Given the description of an element on the screen output the (x, y) to click on. 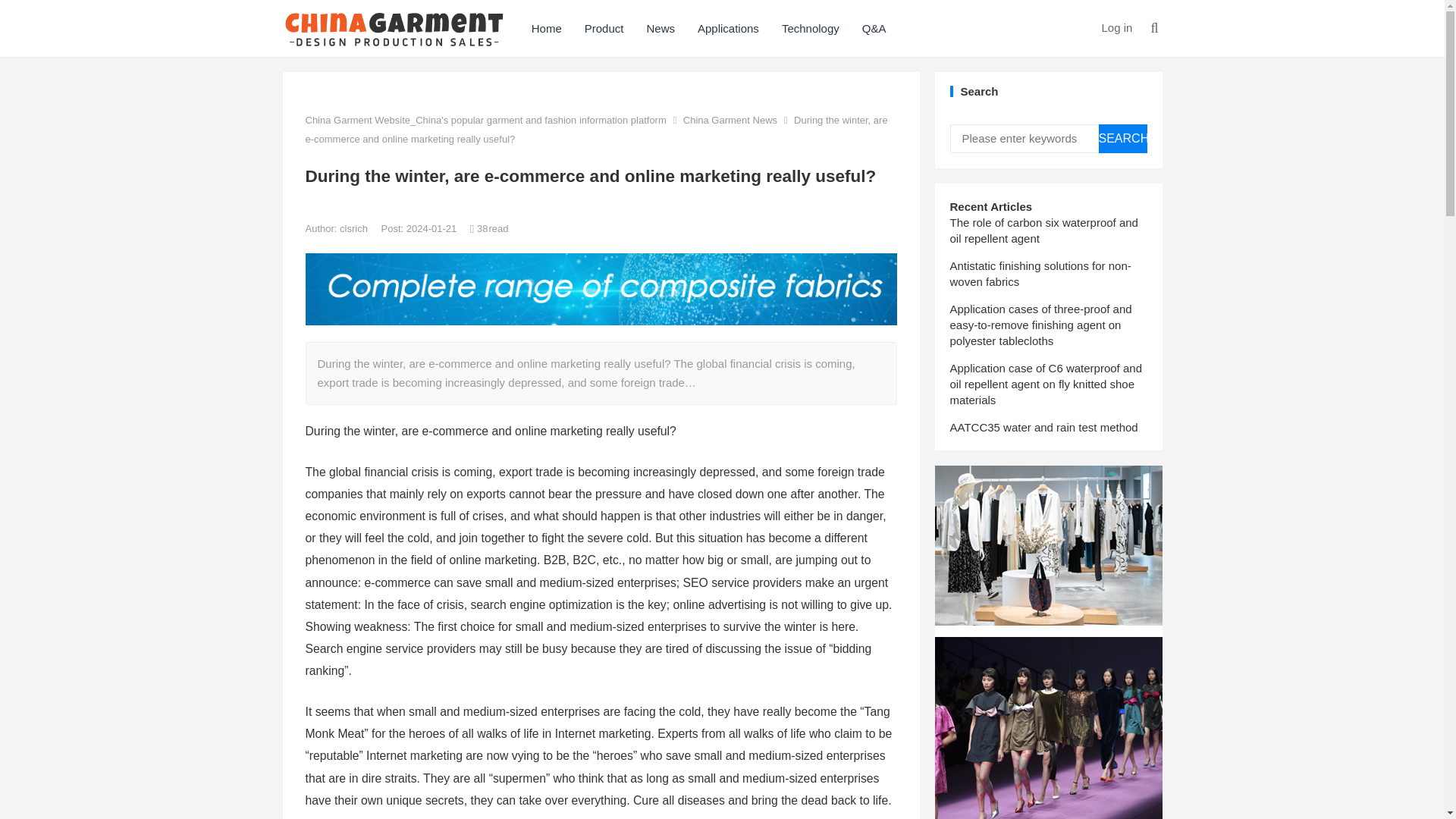
clsrich (354, 228)
News (659, 28)
Applications (727, 28)
Log in (1116, 27)
Log in (1116, 27)
Product (603, 28)
SEARCH (1122, 138)
Technology (810, 28)
The role of carbon six waterproof and oil repellent agent (1043, 230)
China Garment News (729, 119)
Home (546, 28)
